Given the description of an element on the screen output the (x, y) to click on. 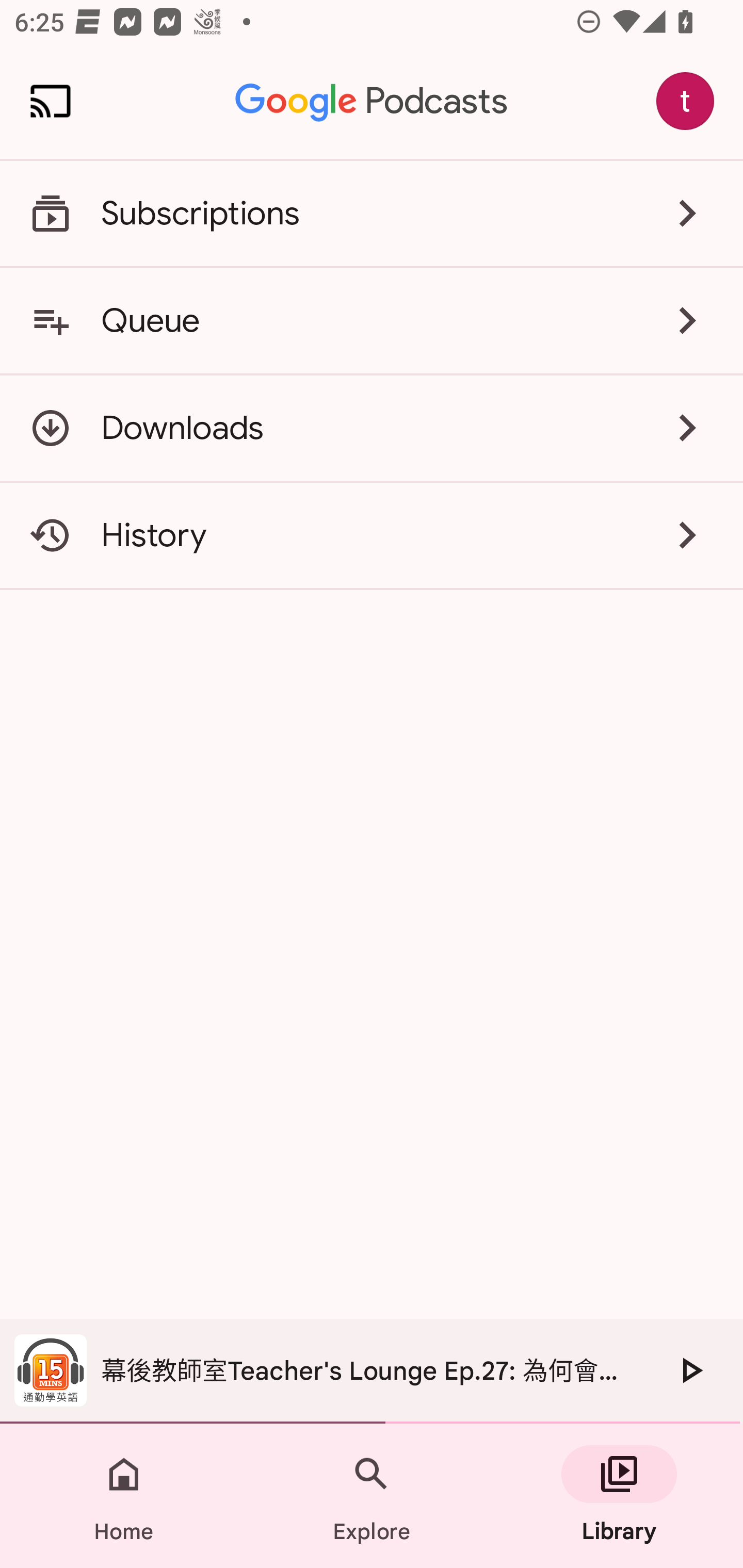
Cast. Disconnected (50, 101)
Subscriptions (371, 213)
Queue (371, 320)
Downloads (371, 427)
History (371, 535)
Play (690, 1370)
Home (123, 1495)
Explore (371, 1495)
